Given the description of an element on the screen output the (x, y) to click on. 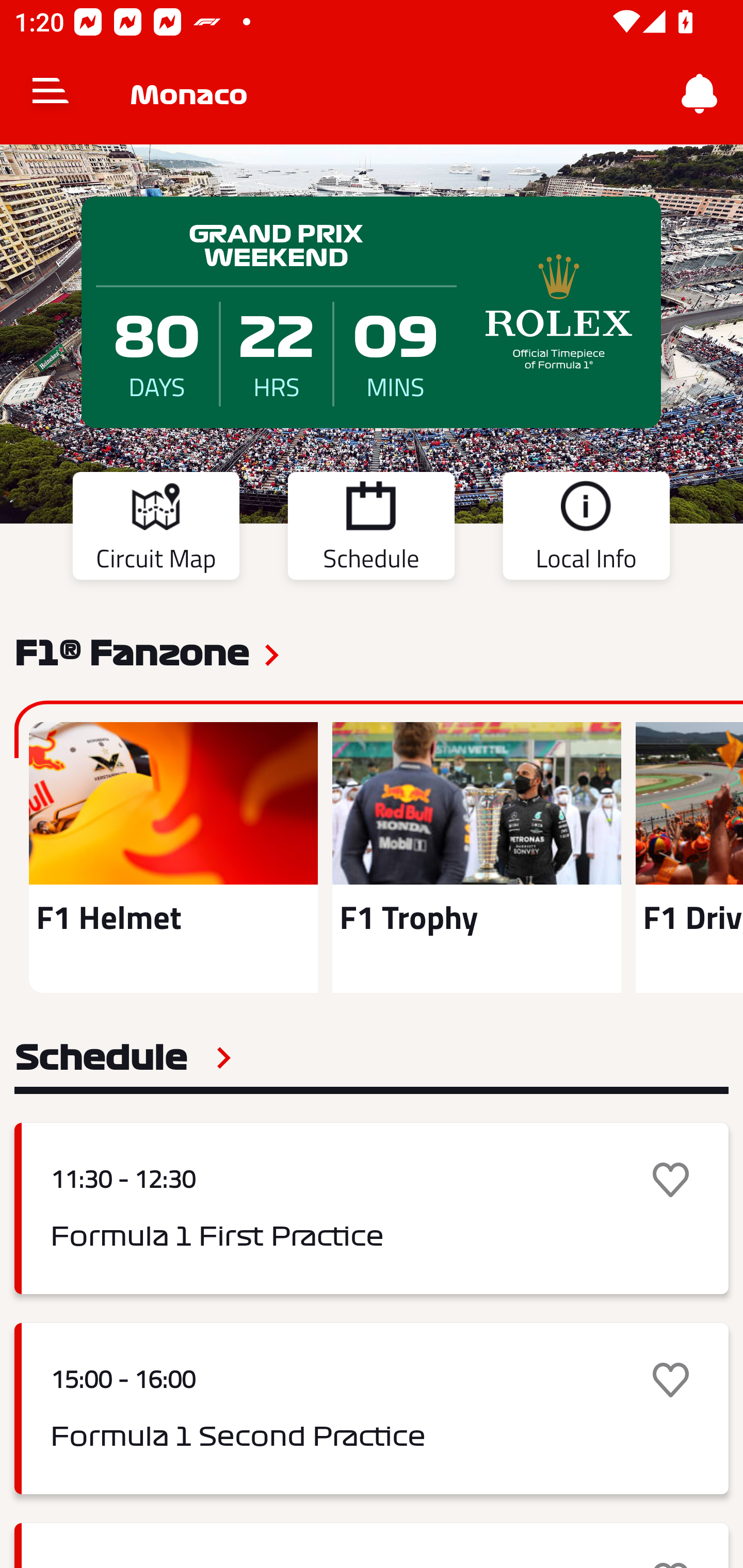
Navigate up (50, 93)
Notifications (699, 93)
Circuit Map (155, 528)
Schedule (370, 528)
Local Info (586, 528)
F1® Fanzone (131, 651)
F1 Helmet (173, 857)
F1 Trophy (476, 857)
Schedule (122, 1057)
11:30 - 12:30 Formula 1 First Practice (371, 1207)
15:00 - 16:00 Formula 1 Second Practice (371, 1408)
